Given the description of an element on the screen output the (x, y) to click on. 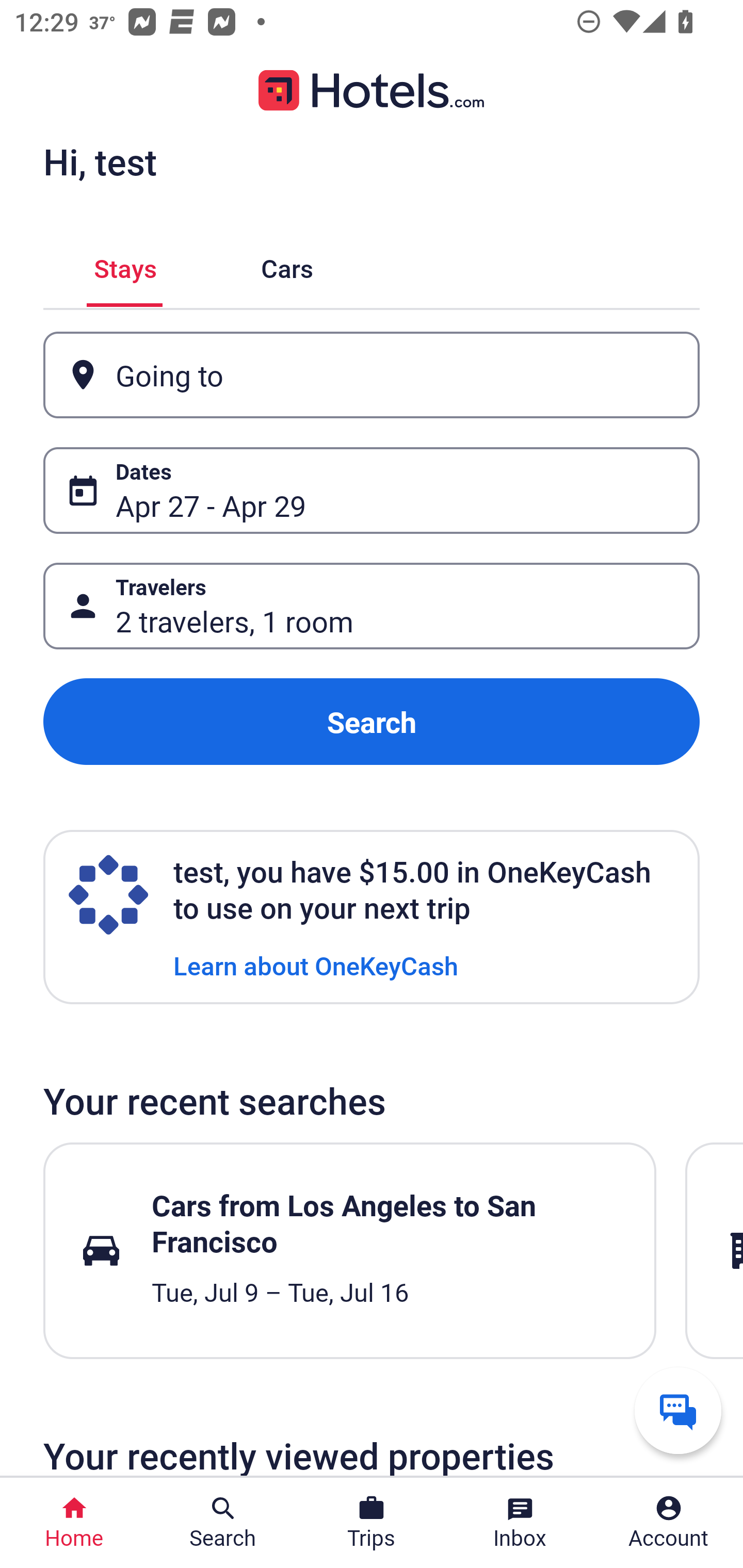
Hi, test (99, 161)
Cars (286, 265)
Going to Button (371, 375)
Dates Button Apr 27 - Apr 29 (371, 489)
Travelers Button 2 travelers, 1 room (371, 605)
Search (371, 721)
Learn about OneKeyCash Learn about OneKeyCash Link (315, 964)
Get help from a virtual agent (677, 1410)
Search Search Button (222, 1522)
Trips Trips Button (371, 1522)
Inbox Inbox Button (519, 1522)
Account Profile. Button (668, 1522)
